Given the description of an element on the screen output the (x, y) to click on. 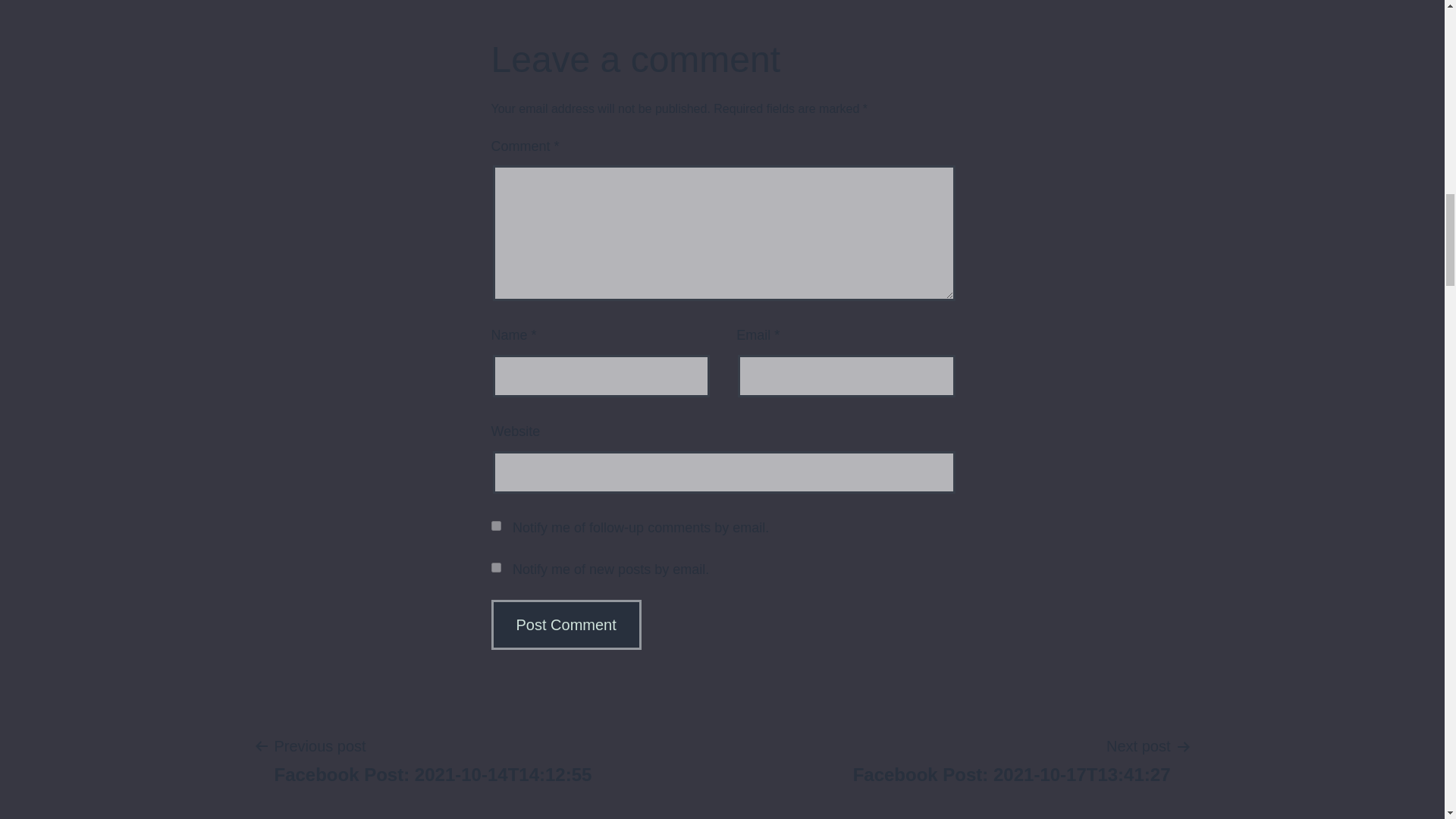
Post Comment (1011, 759)
Post Comment (567, 624)
